Given the description of an element on the screen output the (x, y) to click on. 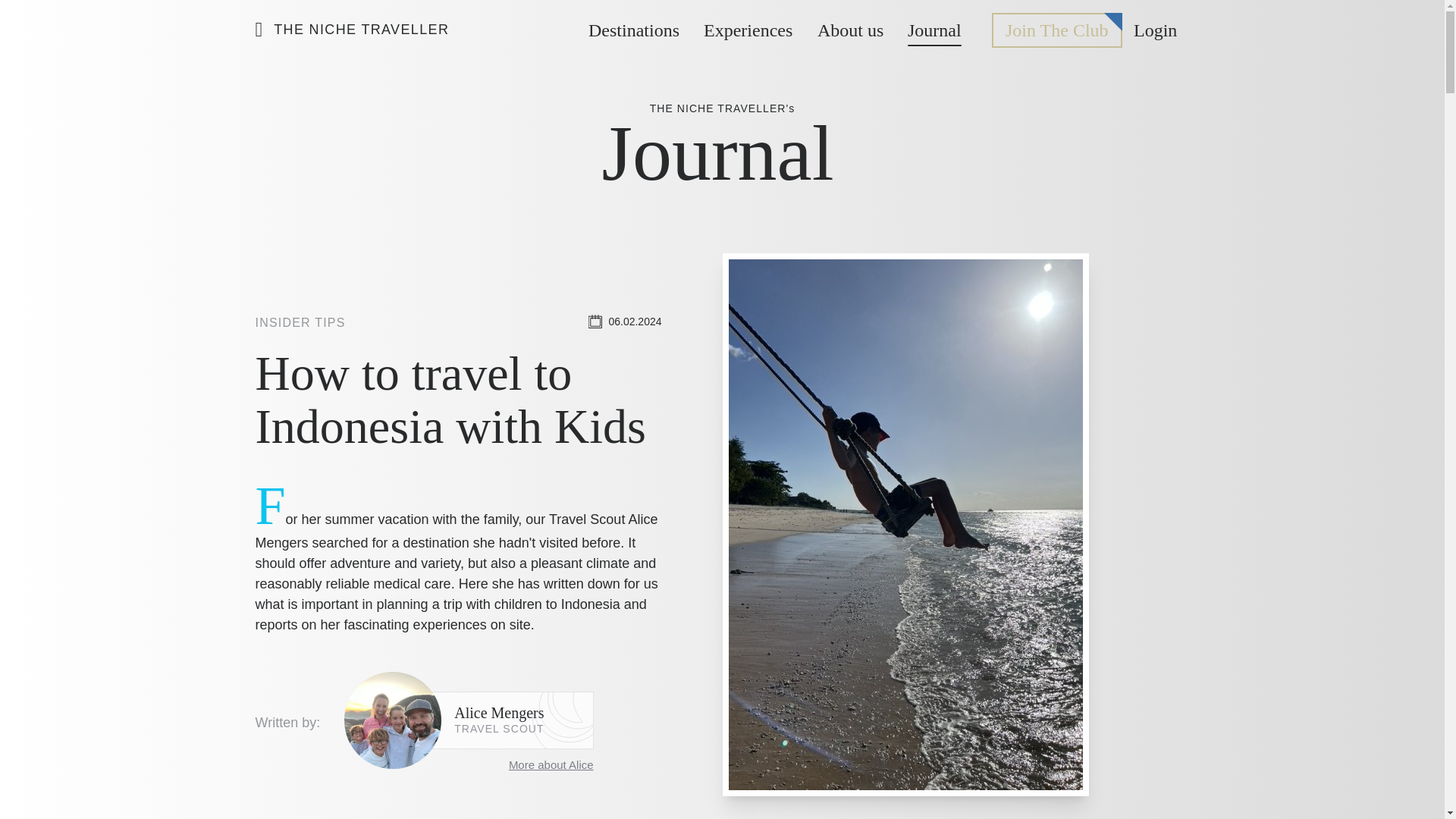
About us (850, 30)
Destinations (633, 30)
More about Alice (467, 764)
Login (1155, 30)
Journal (934, 30)
Join The Club (1056, 30)
THE NICHE TRAVELLER (351, 29)
Go back to the Journal overview (721, 147)
Experiences (748, 30)
